Given the description of an element on the screen output the (x, y) to click on. 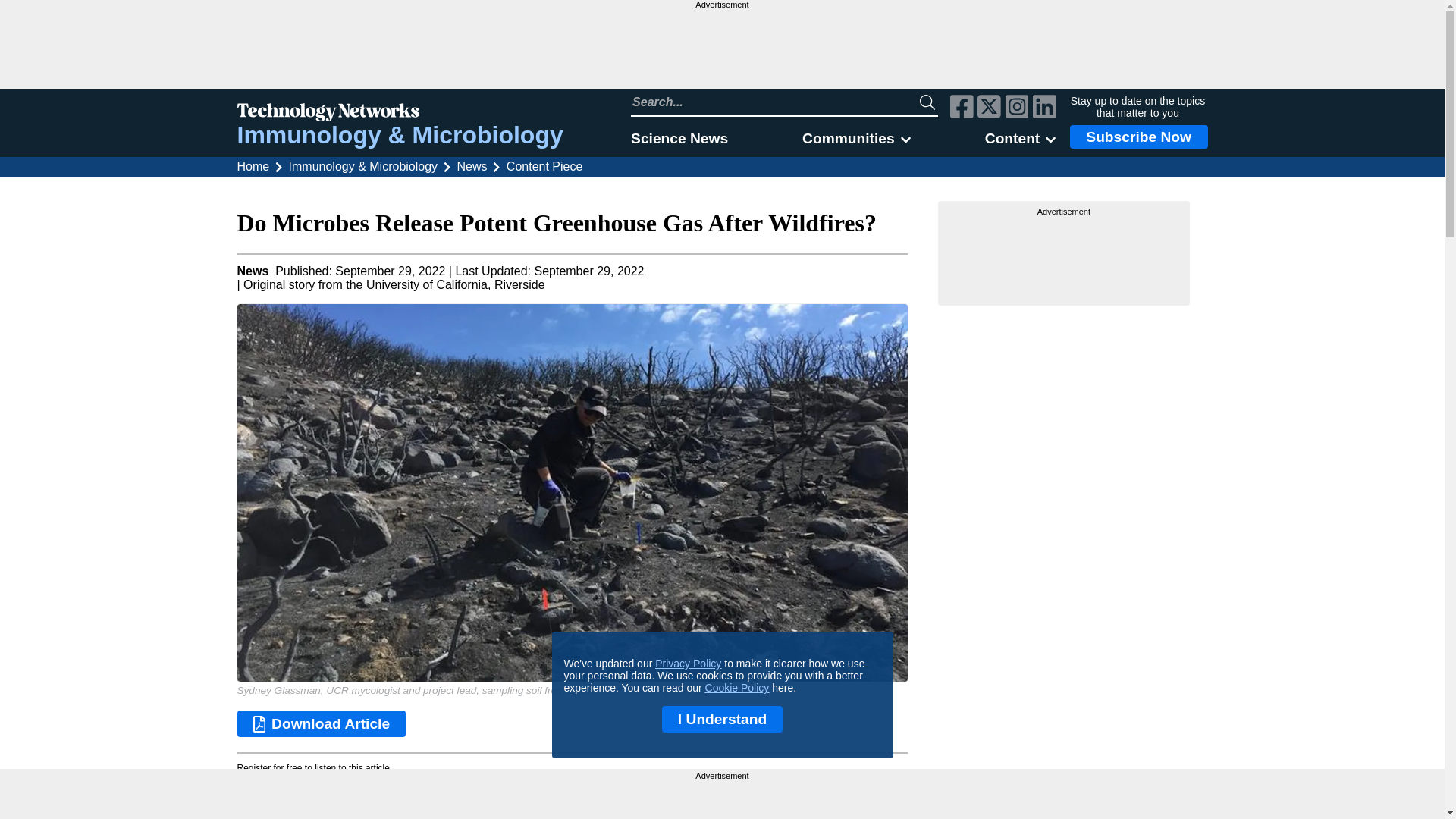
I Understand (722, 718)
Privacy Policy (687, 663)
Cookie Policy (737, 687)
Click here to visit the original source for this content. (393, 284)
Technology Networks logo (398, 113)
Search Technology Networks website input field (775, 102)
